Given the description of an element on the screen output the (x, y) to click on. 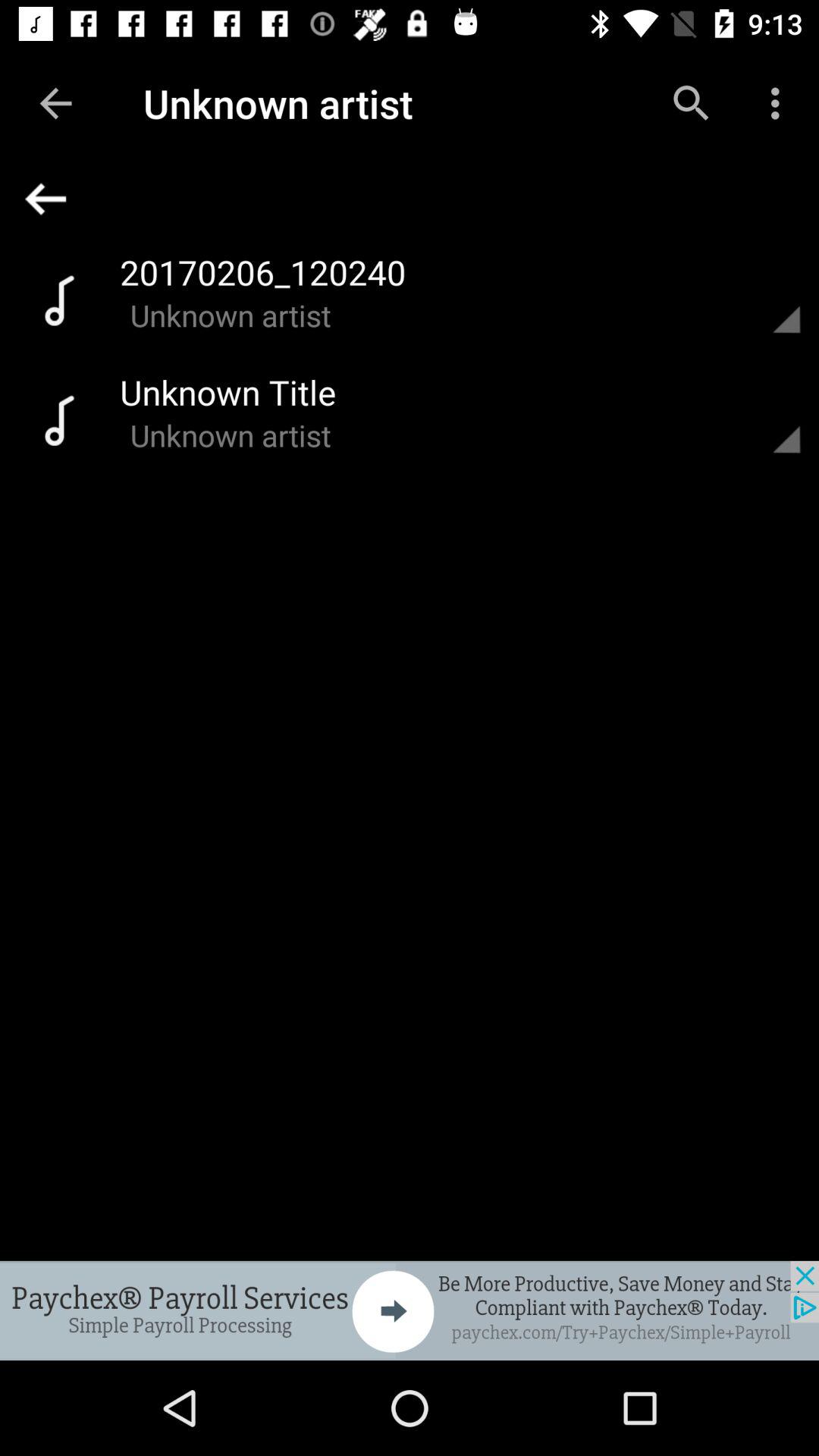
go to previous (768, 418)
